Given the description of an element on the screen output the (x, y) to click on. 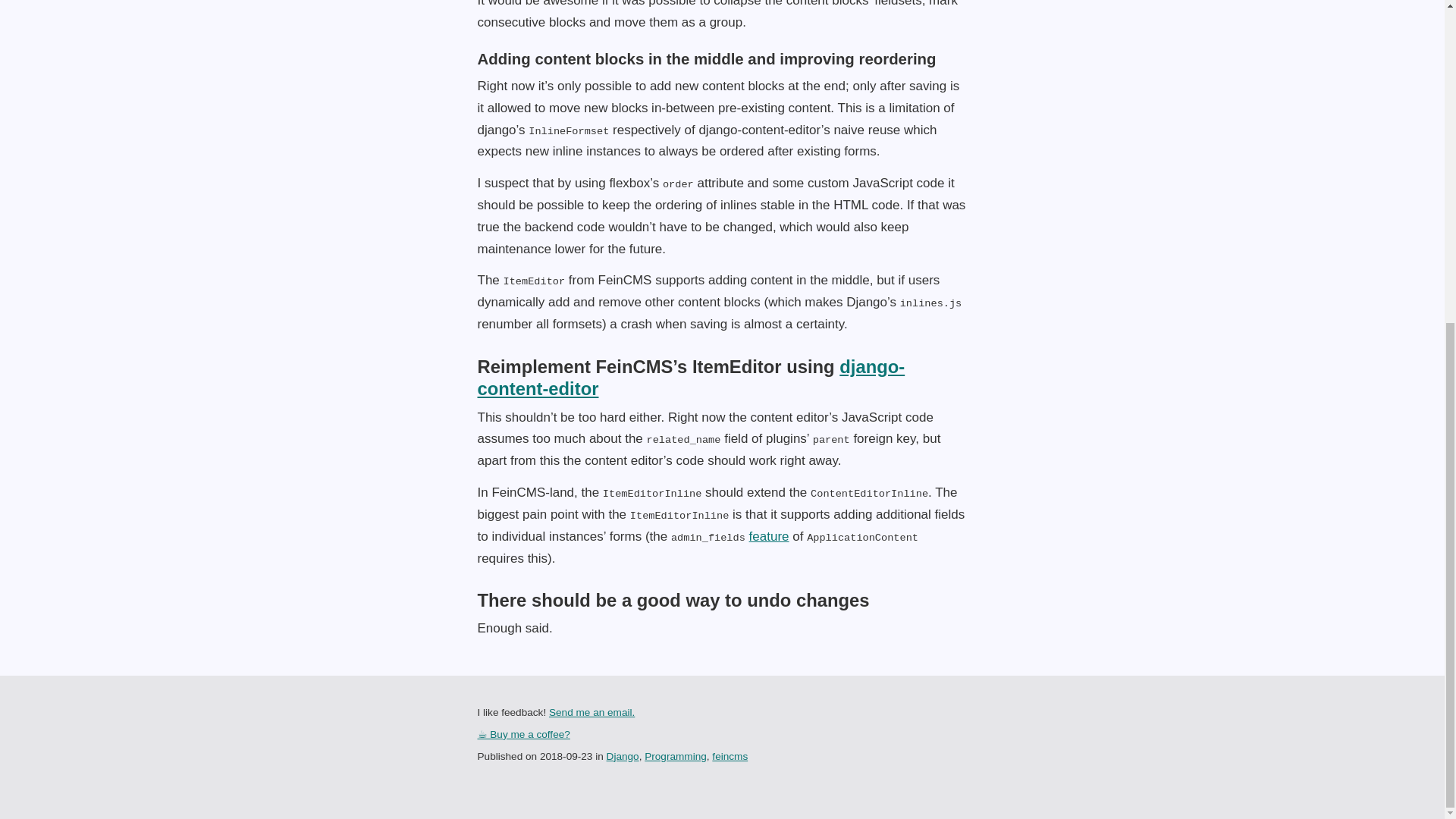
feature (769, 536)
There should be a good way to undo changes (673, 599)
Send me an email. (591, 712)
Programming (675, 756)
Adding content blocks in the middle and improving reordering (706, 58)
Django (623, 756)
django-content-editor (691, 377)
feincms (729, 756)
